Given the description of an element on the screen output the (x, y) to click on. 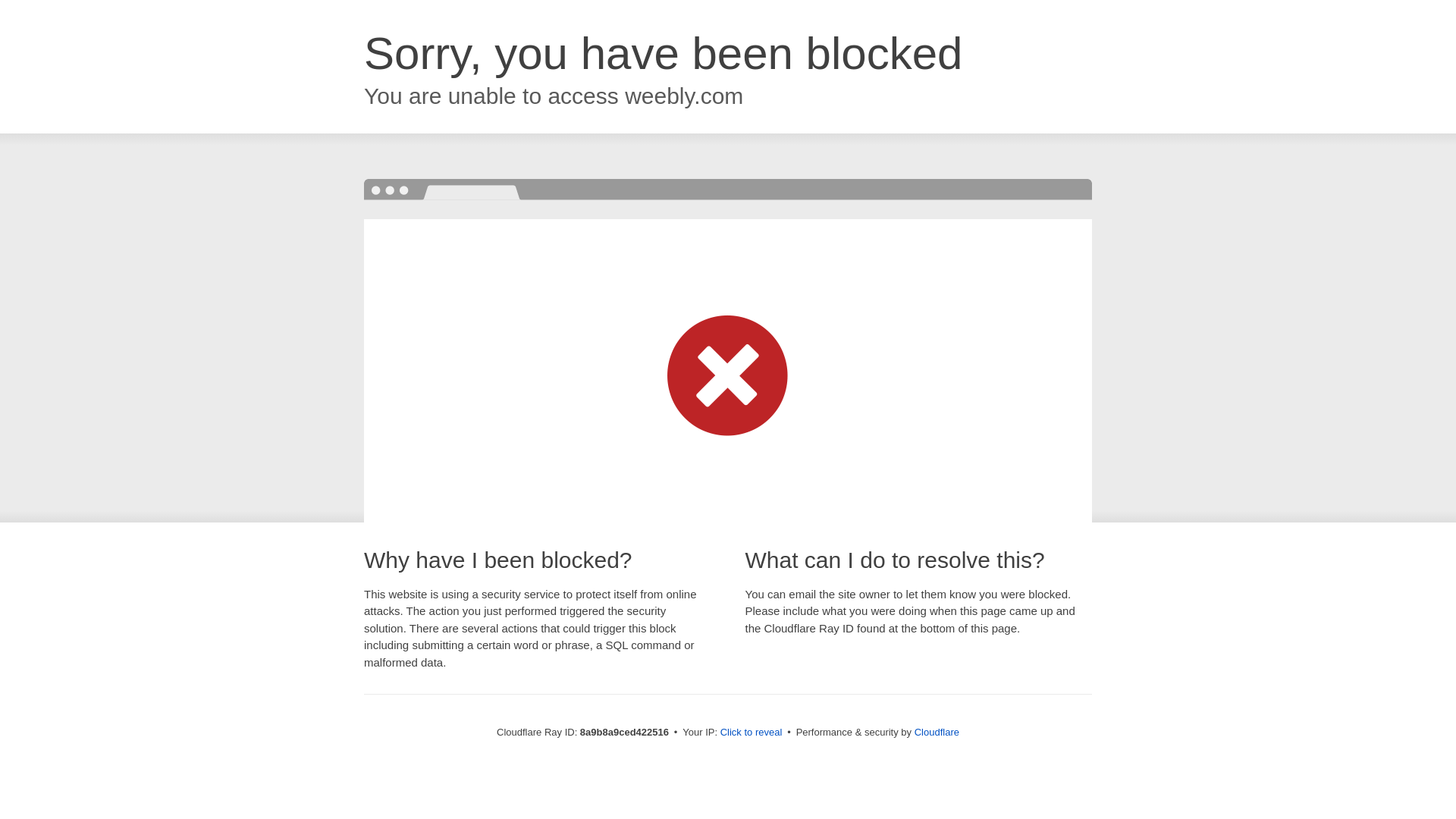
Cloudflare (936, 731)
Click to reveal (751, 732)
